Given the description of an element on the screen output the (x, y) to click on. 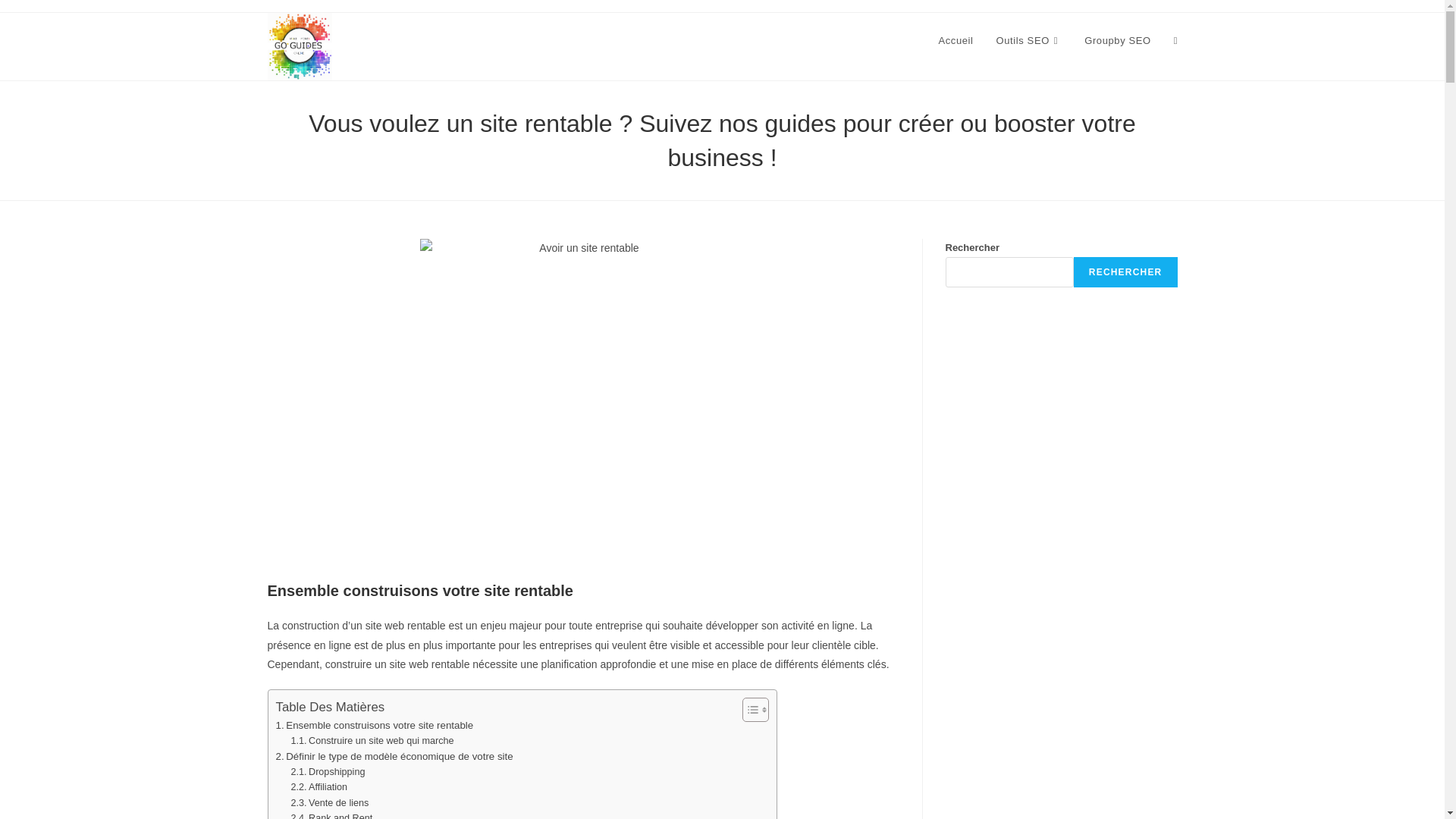
Groupby SEO Element type: text (1117, 40)
Outils SEO Element type: text (1029, 40)
Toggle website search Element type: text (1175, 40)
RECHERCHER Element type: text (1125, 272)
Ensemble construisons votre site rentable Element type: text (374, 725)
Dropshipping Element type: text (327, 771)
Vente de liens Element type: text (329, 802)
Accueil Element type: text (955, 40)
Affiliation Element type: text (318, 786)
Construire un site web qui marche Element type: text (371, 740)
